Given the description of an element on the screen output the (x, y) to click on. 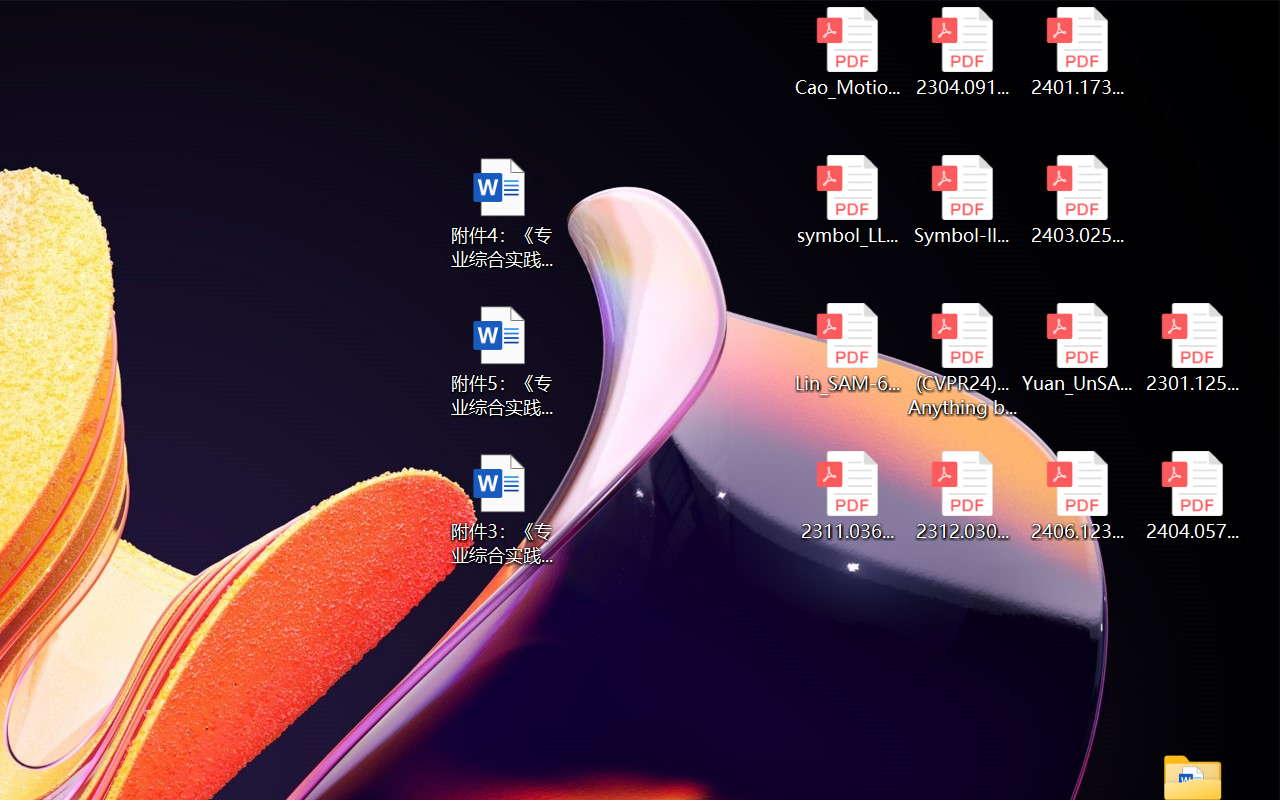
2404.05719v1.pdf (1192, 496)
symbol_LLM.pdf (846, 200)
2311.03658v2.pdf (846, 496)
2304.09121v3.pdf (962, 52)
2406.12373v2.pdf (1077, 496)
Symbol-llm-v2.pdf (962, 200)
2312.03032v2.pdf (962, 496)
2403.02502v1.pdf (1077, 200)
2401.17399v1.pdf (1077, 52)
